Given the description of an element on the screen output the (x, y) to click on. 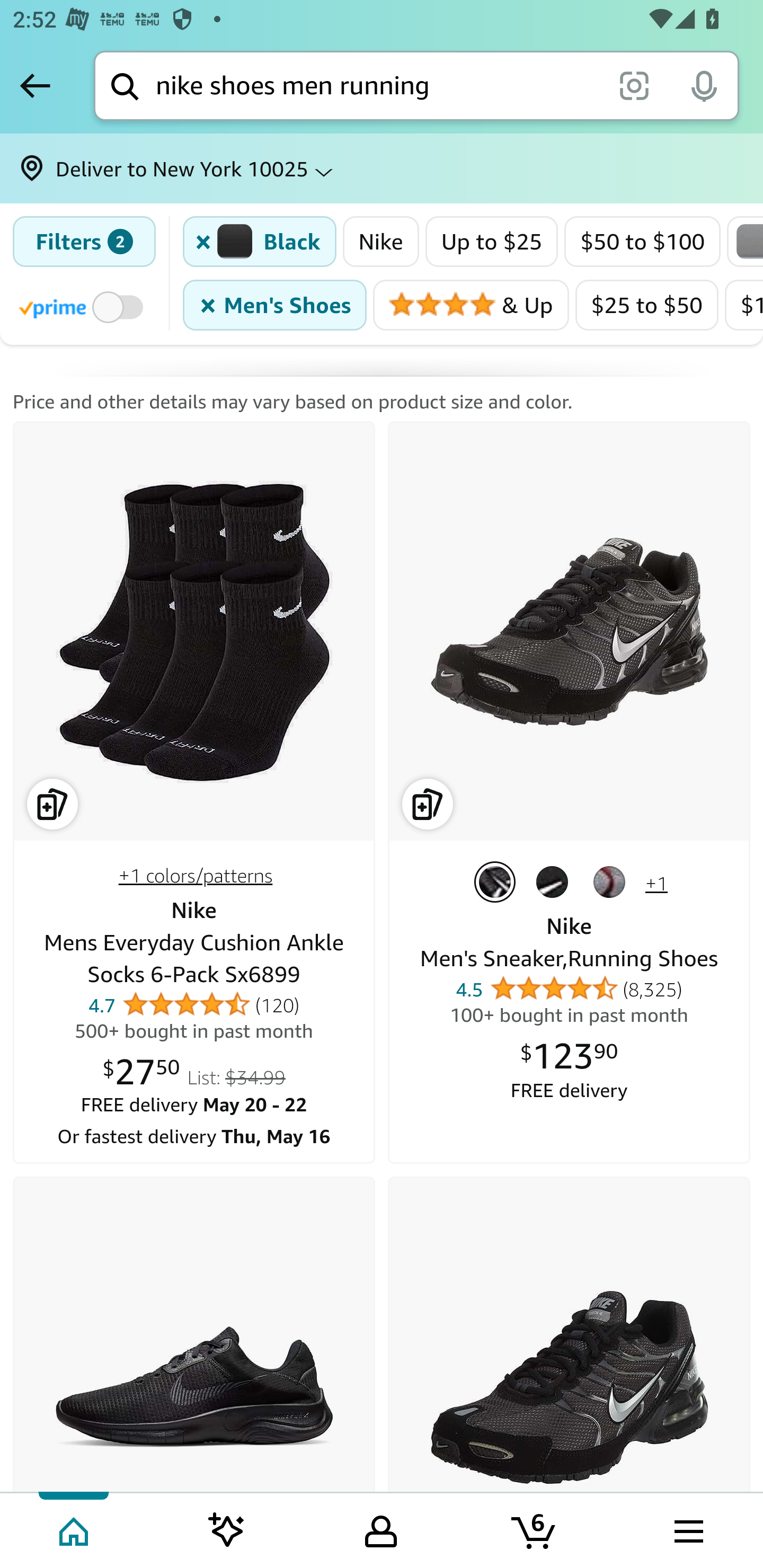
Back (35, 85)
scan it (633, 85)
Deliver to New York 10025 ⌵ (381, 168)
Filters 2 (83, 241)
× Black Black × Black Black (260, 241)
Nike (380, 241)
Up to $25 (491, 241)
$50 to $100 (642, 241)
Toggle to filter by Prime products Prime Eligible (83, 306)
× Men's Shoes × Men's Shoes (275, 304)
4 Stars & Up (470, 304)
$25 to $50 (645, 304)
Anthracite/Metallic Silver/Black (498, 881)
Black/White (555, 881)
Atmosphere Grey/University Red/Black (612, 881)
+1 colors/patterns (195, 876)
+1 (656, 883)
Nike Men's Sneaker,Running Shoes (568, 1369)
Home Tab 1 of 5 (75, 1529)
Inspire feed Tab 2 of 5 (227, 1529)
Your Amazon.com Tab 3 of 5 (380, 1529)
Cart 6 items Tab 4 of 5 6 (534, 1529)
Browse menu Tab 5 of 5 (687, 1529)
